Given the description of an element on the screen output the (x, y) to click on. 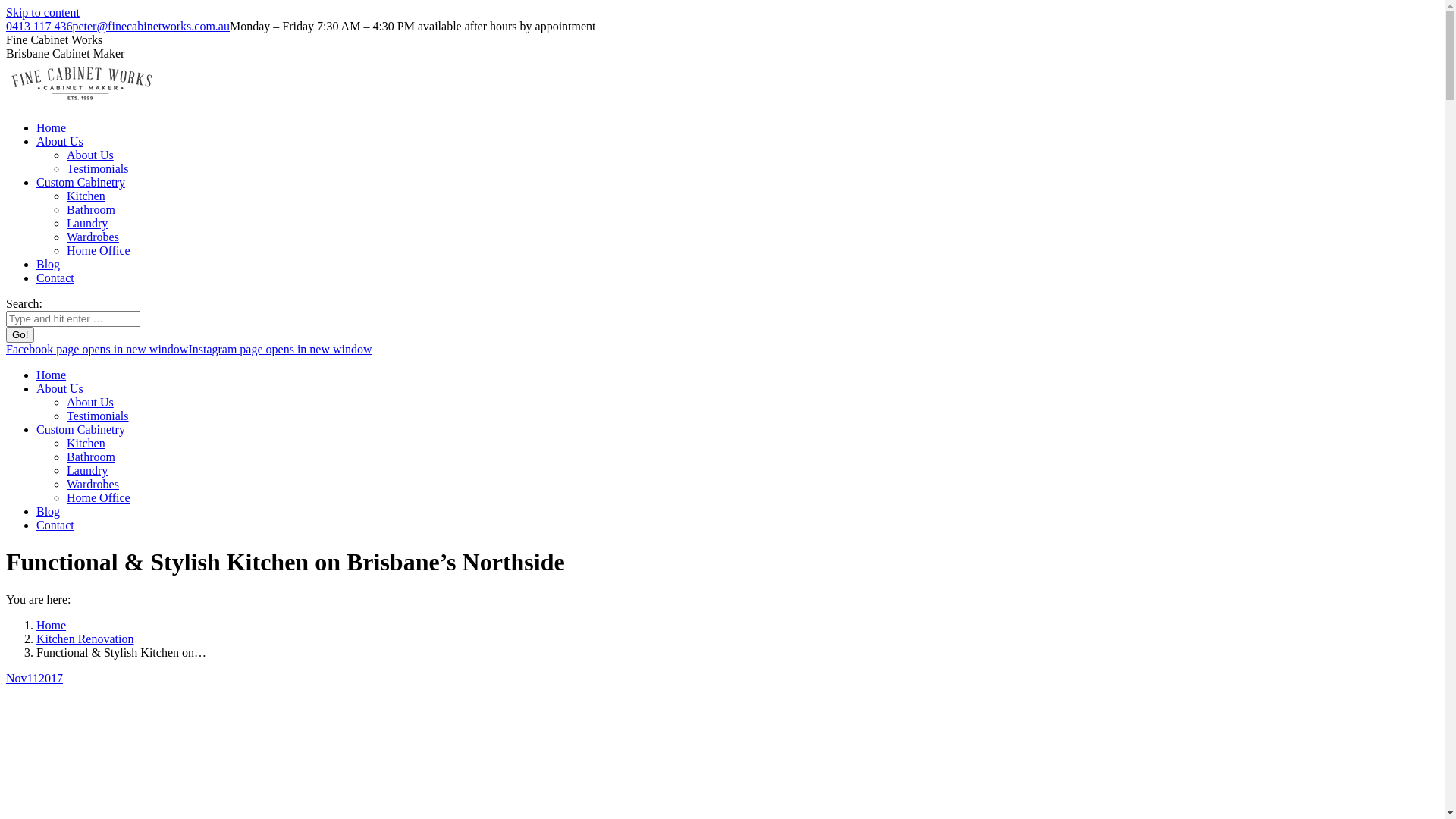
Contact Element type: text (55, 524)
Custom Cabinetry Element type: text (80, 429)
Instagram page opens in new window Element type: text (279, 348)
Home Office Element type: text (98, 250)
Blog Element type: text (47, 511)
Search form Element type: hover (73, 318)
0413 117 436 Element type: text (39, 25)
Wardrobes Element type: text (92, 236)
Laundry Element type: text (86, 222)
Testimonials Element type: text (97, 415)
Blog Element type: text (47, 263)
Home Element type: text (50, 624)
Bathroom Element type: text (90, 209)
Home Element type: text (50, 127)
Go! Element type: text (20, 334)
About Us Element type: text (59, 388)
Nov112017 Element type: text (34, 677)
Custom Cabinetry Element type: text (80, 181)
Home Element type: text (50, 374)
About Us Element type: text (89, 401)
About Us Element type: text (59, 140)
Kitchen Renovation Element type: text (84, 638)
Home Office Element type: text (98, 497)
Kitchen Element type: text (85, 195)
About Us Element type: text (89, 154)
Skip to content Element type: text (42, 12)
Laundry Element type: text (86, 470)
Contact Element type: text (55, 277)
peter@finecabinetworks.com.au Element type: text (150, 25)
Kitchen Element type: text (85, 442)
Bathroom Element type: text (90, 456)
Testimonials Element type: text (97, 168)
Facebook page opens in new window Element type: text (97, 348)
Wardrobes Element type: text (92, 483)
